Given the description of an element on the screen output the (x, y) to click on. 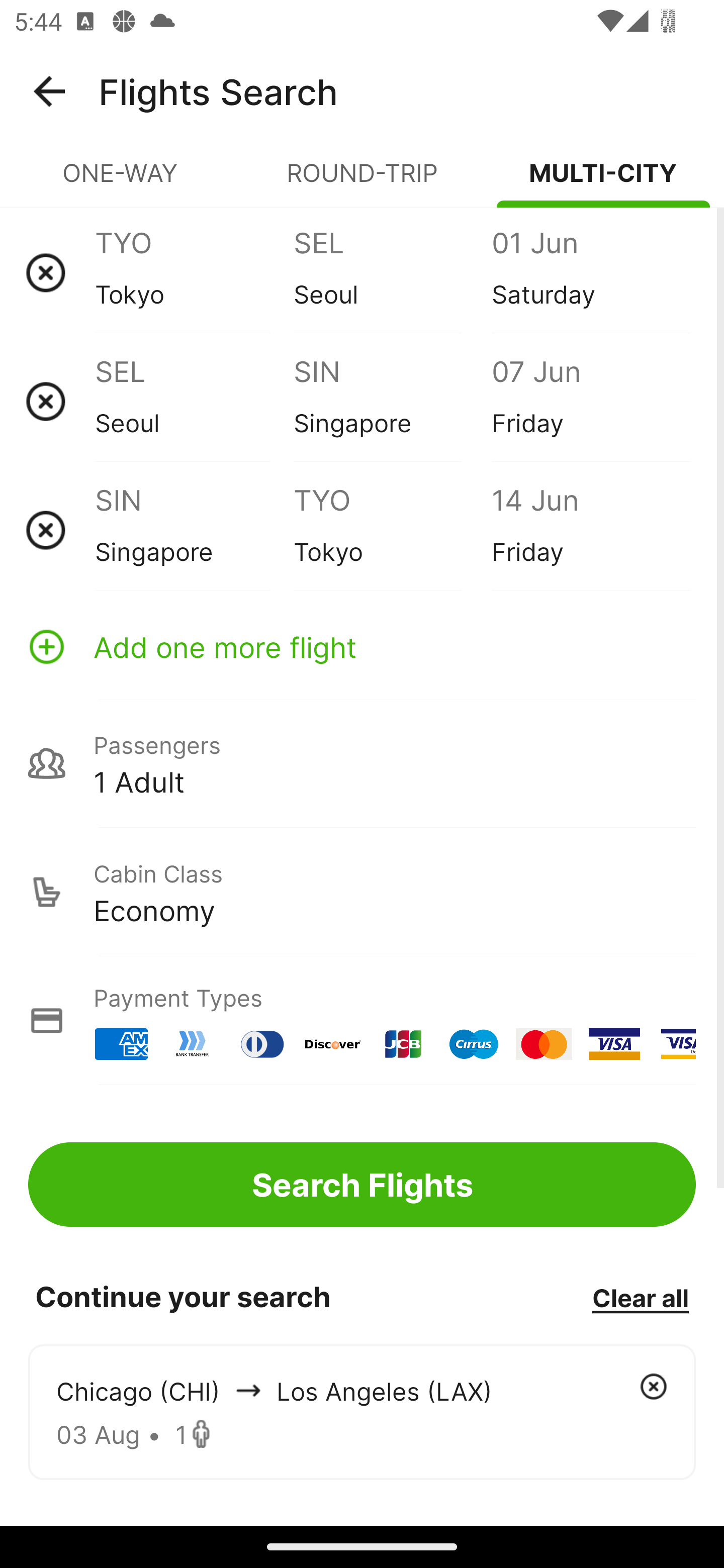
ONE-WAY (120, 180)
ROUND-TRIP (361, 180)
MULTI-CITY (603, 180)
TYO Tokyo (193, 272)
SEL Seoul (392, 272)
01 Jun Saturday (590, 272)
SEL Seoul (193, 401)
SIN Singapore (392, 401)
07 Jun Friday (590, 401)
SIN Singapore (193, 529)
TYO Tokyo (392, 529)
14 Jun Friday (590, 529)
Add one more flight (362, 646)
Passengers 1 Adult (362, 762)
Cabin Class Economy (362, 891)
Payment Types (362, 1020)
Search Flights (361, 1184)
Clear all (640, 1297)
